Given the description of an element on the screen output the (x, y) to click on. 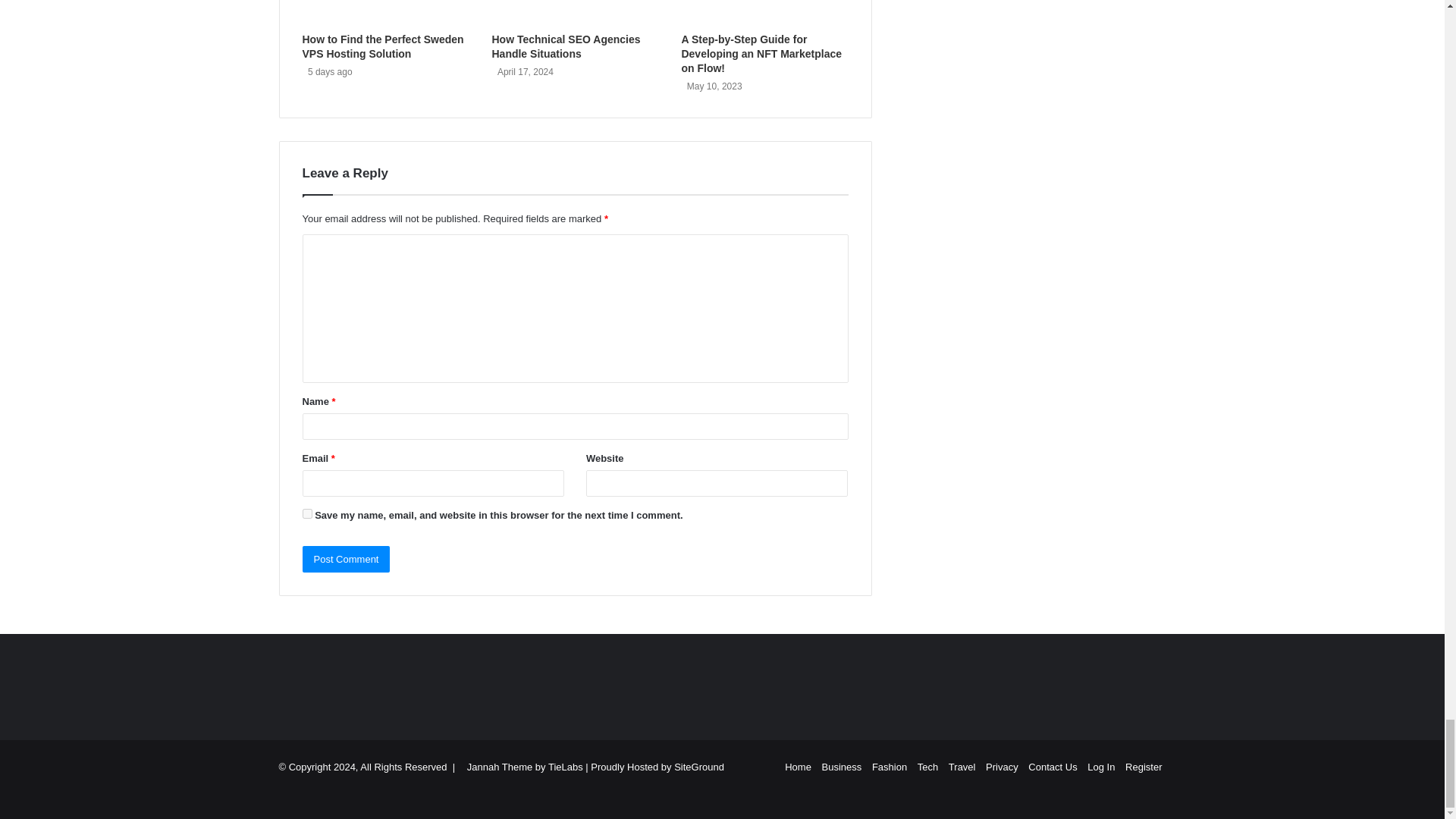
yes (306, 513)
Post Comment (345, 559)
